Given the description of an element on the screen output the (x, y) to click on. 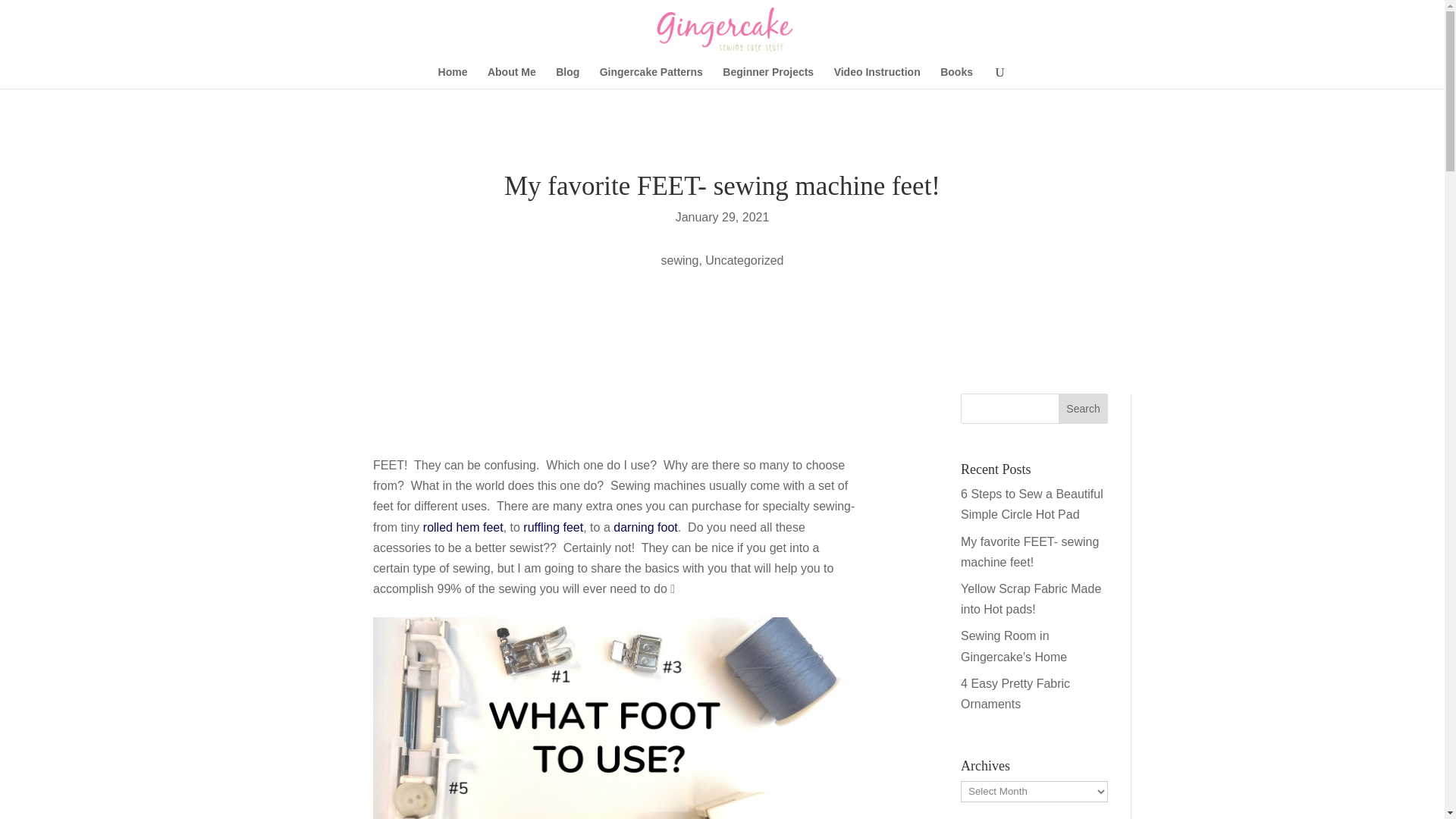
darning foot (645, 526)
Search (1083, 408)
sewing (679, 259)
ruffling feet (552, 526)
My favorite FEET- sewing machine feet! (1029, 551)
Blog (567, 77)
Beginner Projects (767, 77)
Video Instruction (877, 77)
rolled hem feet (463, 526)
About Me (511, 77)
